Given the description of an element on the screen output the (x, y) to click on. 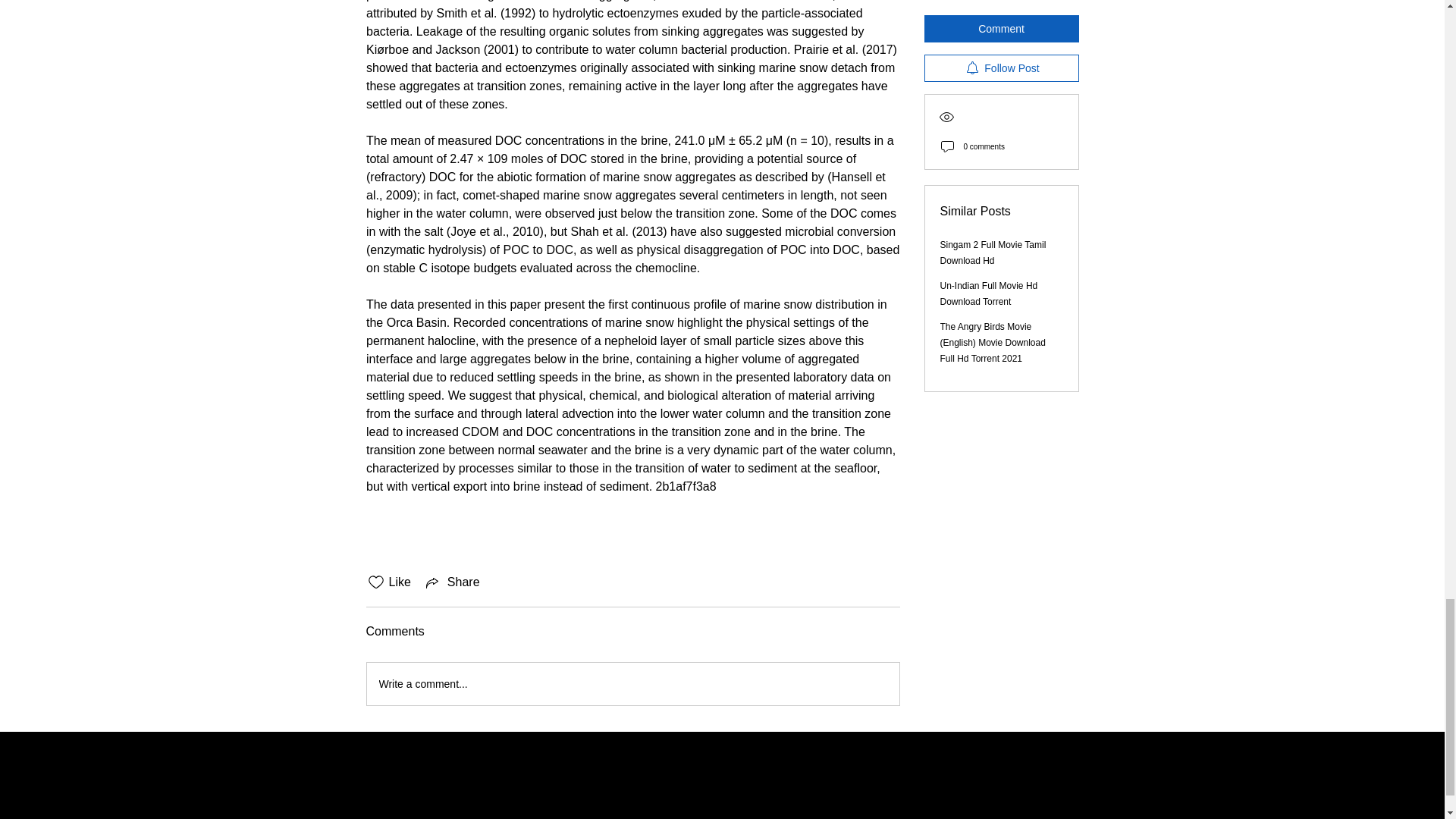
Share (451, 582)
Write a comment... (632, 683)
